Given the description of an element on the screen output the (x, y) to click on. 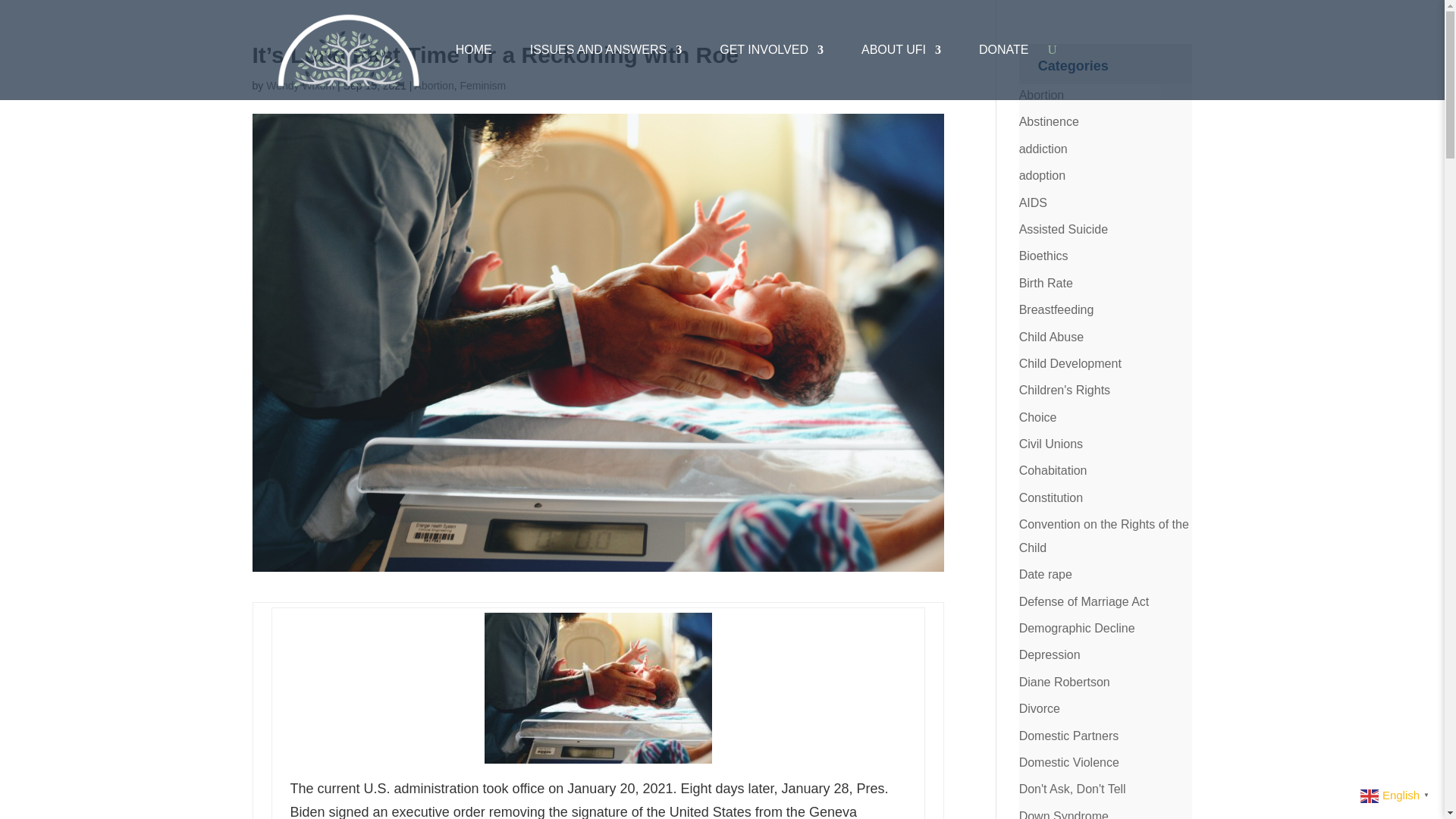
ISSUES AND ANSWERS (605, 49)
ABOUT UFI (900, 49)
Posts by Wendy Wixom (300, 85)
GET INVOLVED (771, 49)
